Given the description of an element on the screen output the (x, y) to click on. 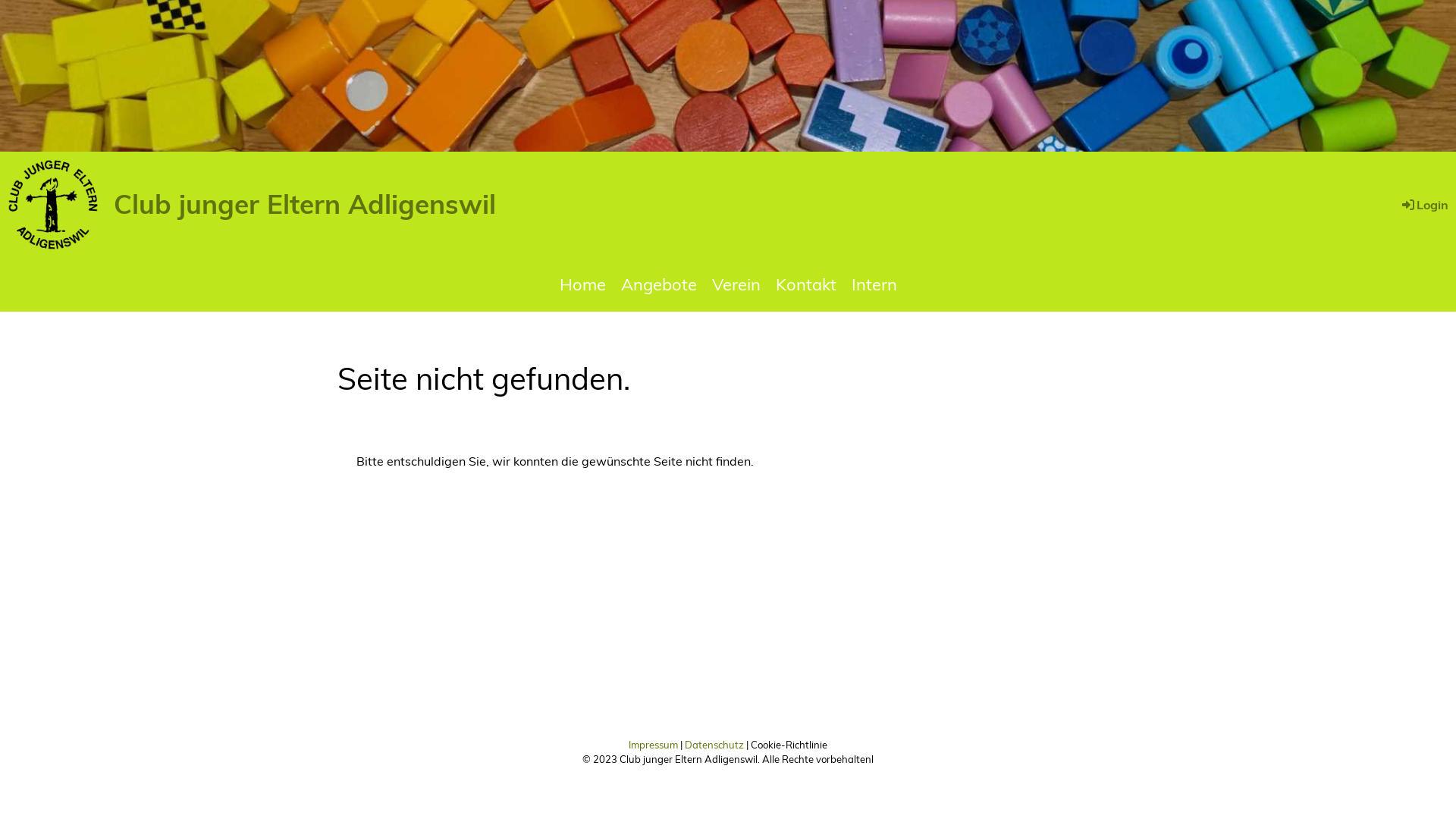
Datenschutz Element type: text (713, 744)
Login Element type: text (1423, 204)
Home Element type: text (582, 284)
Intern Element type: text (873, 284)
Club junger Eltern Adligenswil Element type: text (304, 203)
Verein Element type: text (735, 284)
Angebote Element type: text (657, 284)
Impressum Element type: text (652, 744)
Kontakt Element type: text (805, 284)
